Given the description of an element on the screen output the (x, y) to click on. 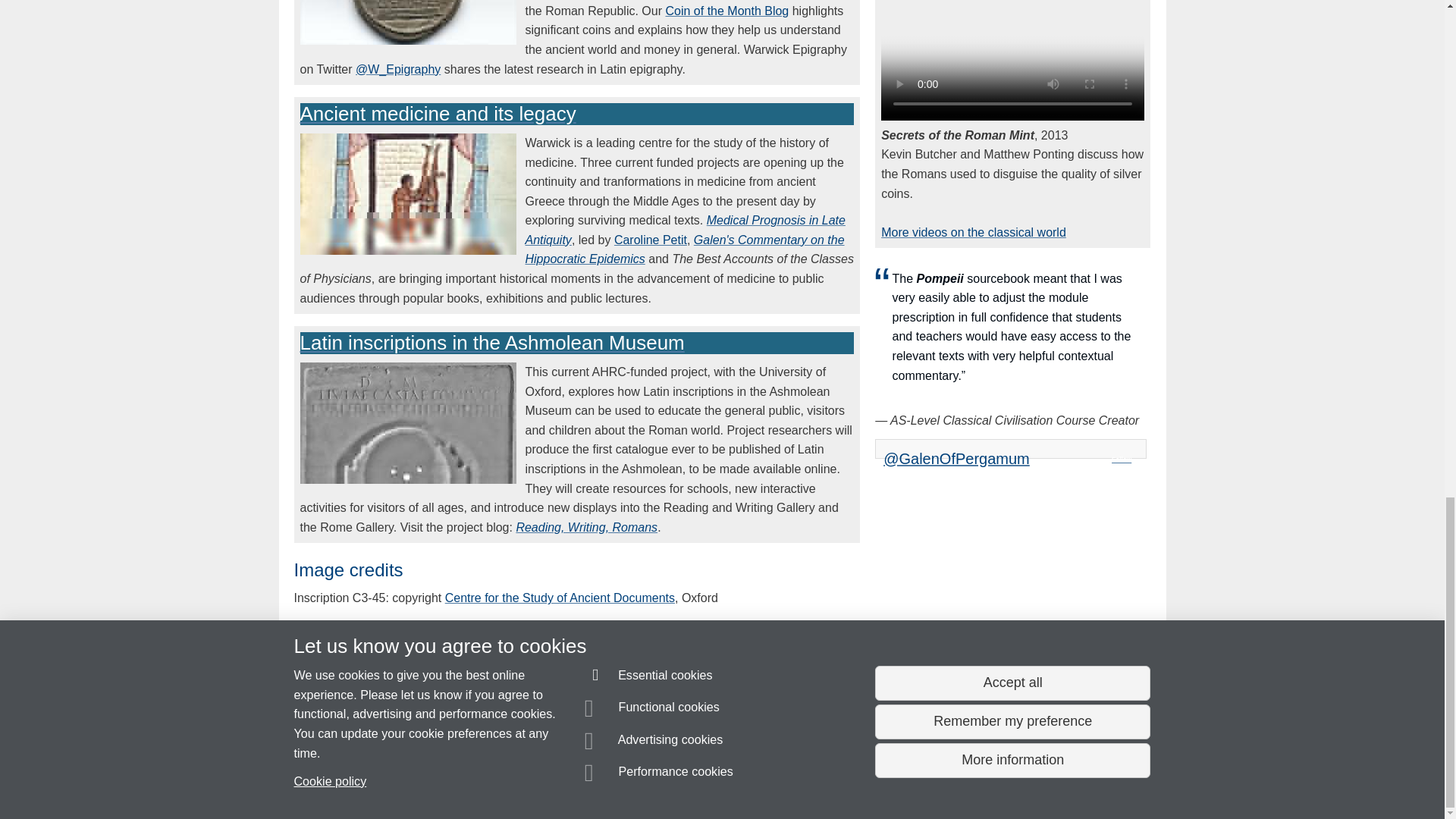
Information about cookies (467, 780)
Terms of use (708, 780)
More information about SiteBuilder (365, 780)
Send an email to Clare Rowan (378, 751)
Copyright Statement (514, 780)
Privacy notice (673, 780)
